Given the description of an element on the screen output the (x, y) to click on. 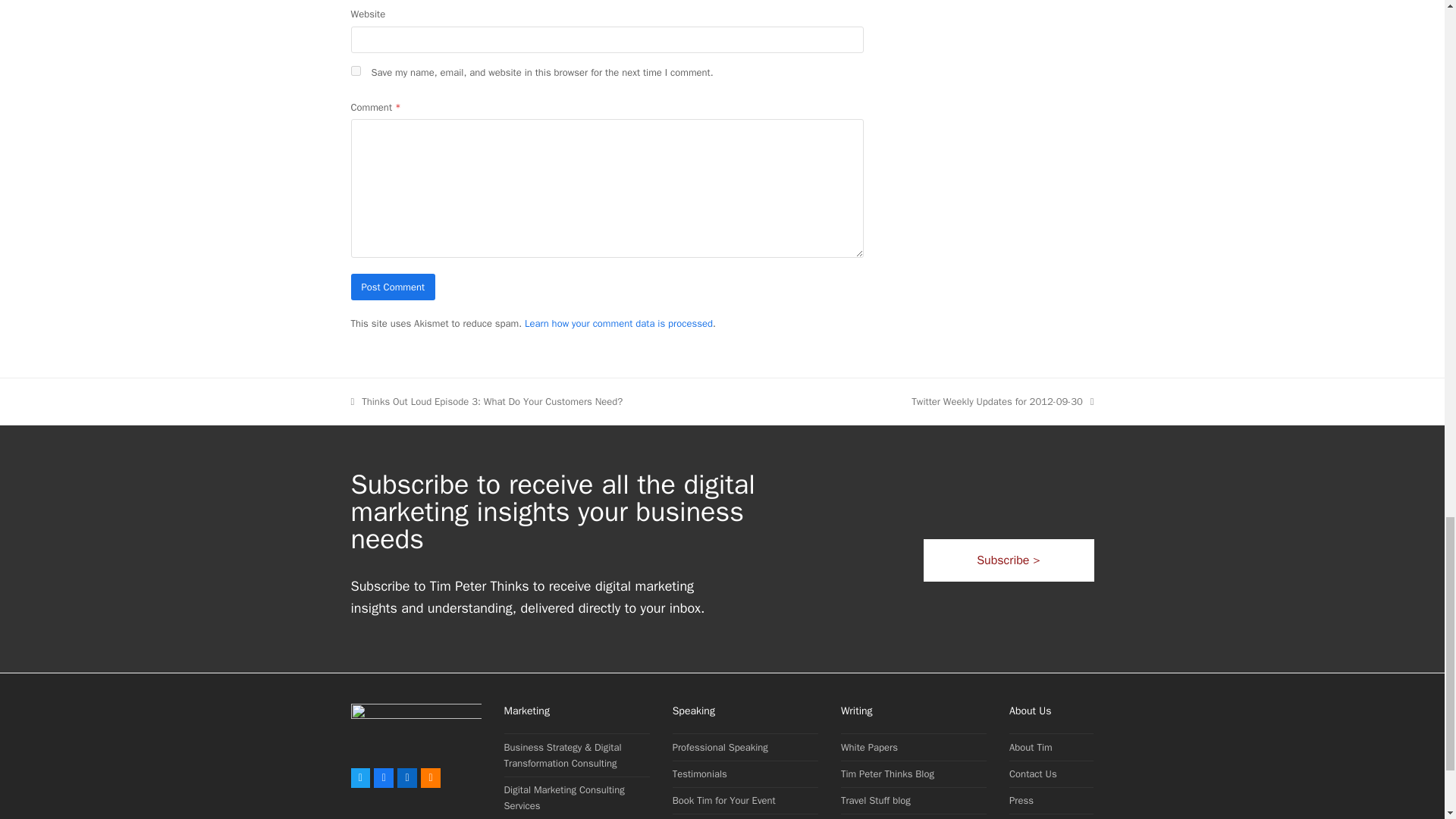
Twitter (359, 777)
Post Comment (392, 286)
yes (354, 71)
LinkedIn (406, 777)
Facebook (383, 777)
RSS (430, 777)
